Given the description of an element on the screen output the (x, y) to click on. 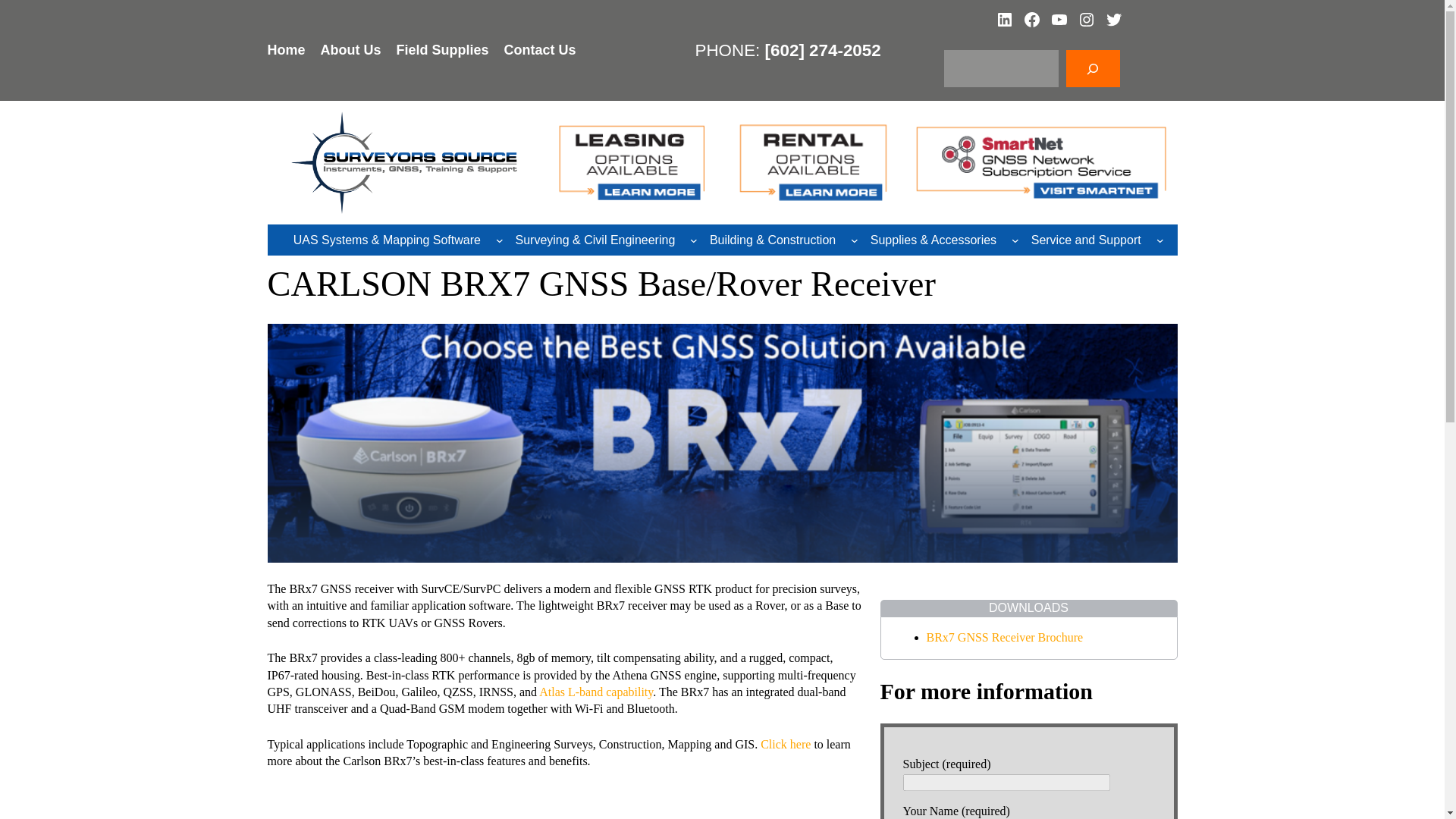
About Us (350, 50)
YouTube (1058, 19)
Instagram (1085, 19)
Facebook (1031, 19)
Carlson BRx7 GNSS for Surveying and Field Data Collection (563, 803)
Twitter (1112, 19)
Field Supplies (442, 50)
LinkedIn (1003, 19)
Contact Us (539, 50)
Home (285, 50)
